Given the description of an element on the screen output the (x, y) to click on. 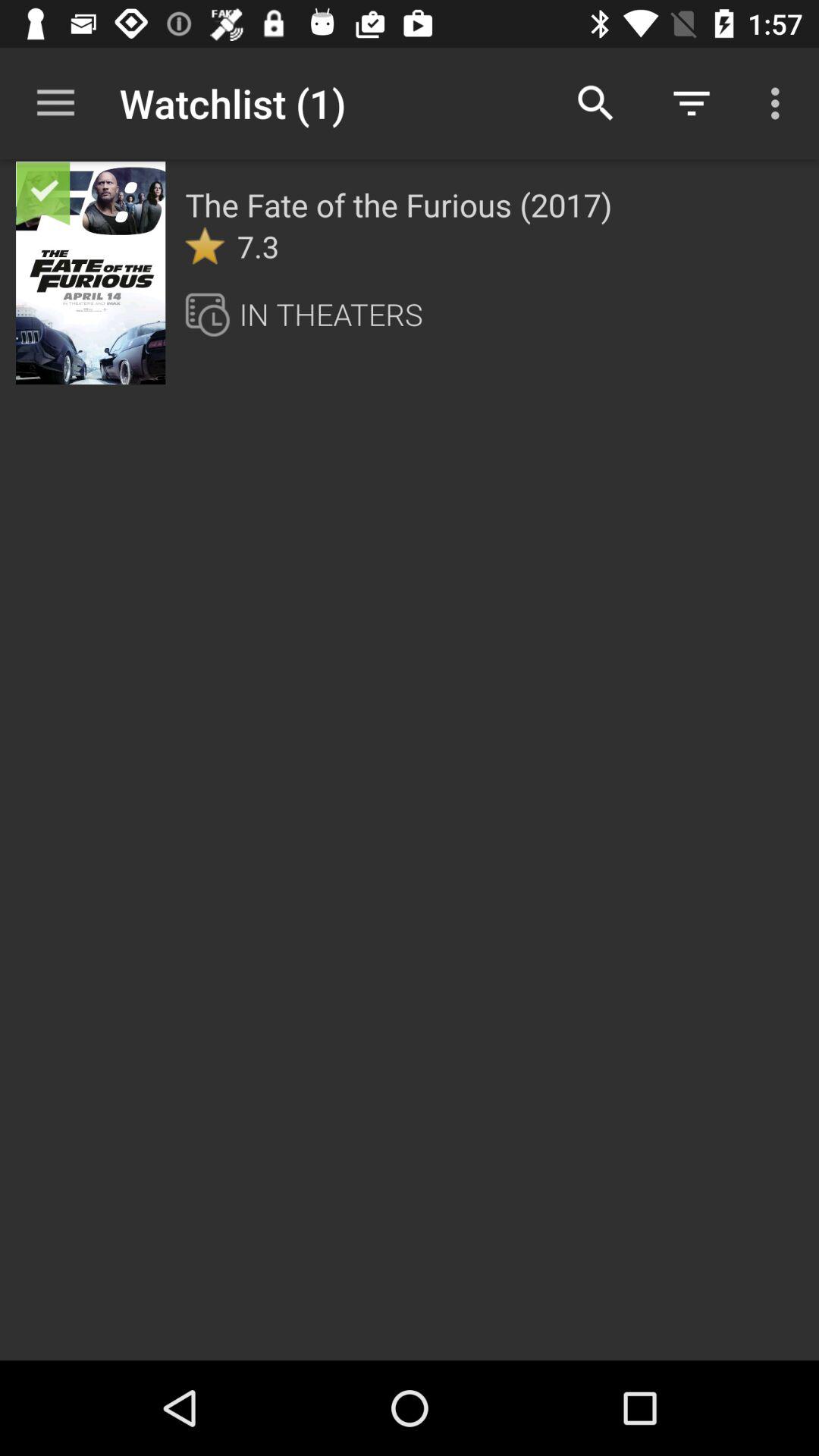
turn on the item to the left of 7.3 (205, 246)
